Given the description of an element on the screen output the (x, y) to click on. 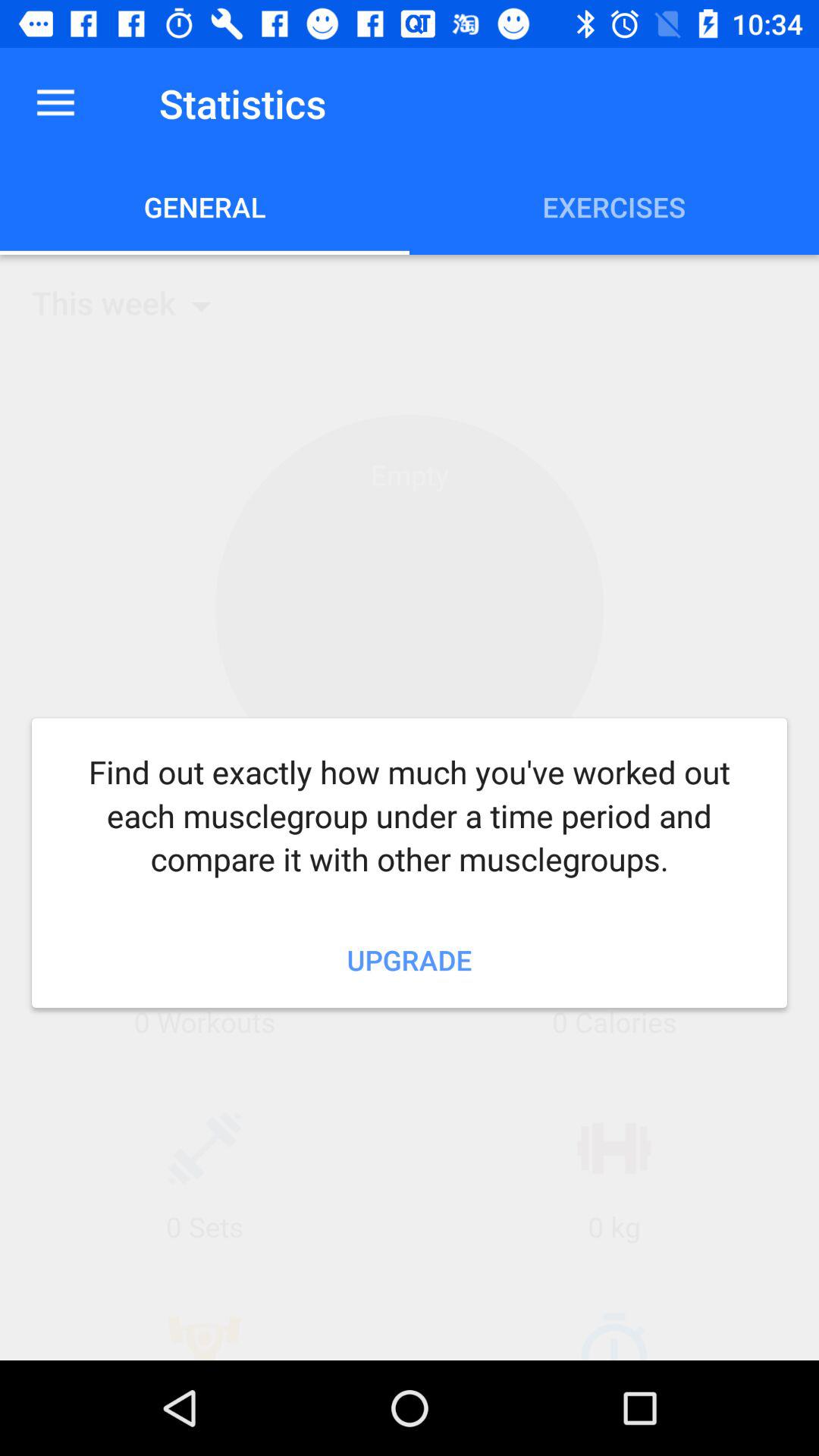
turn on the general icon (204, 206)
